Given the description of an element on the screen output the (x, y) to click on. 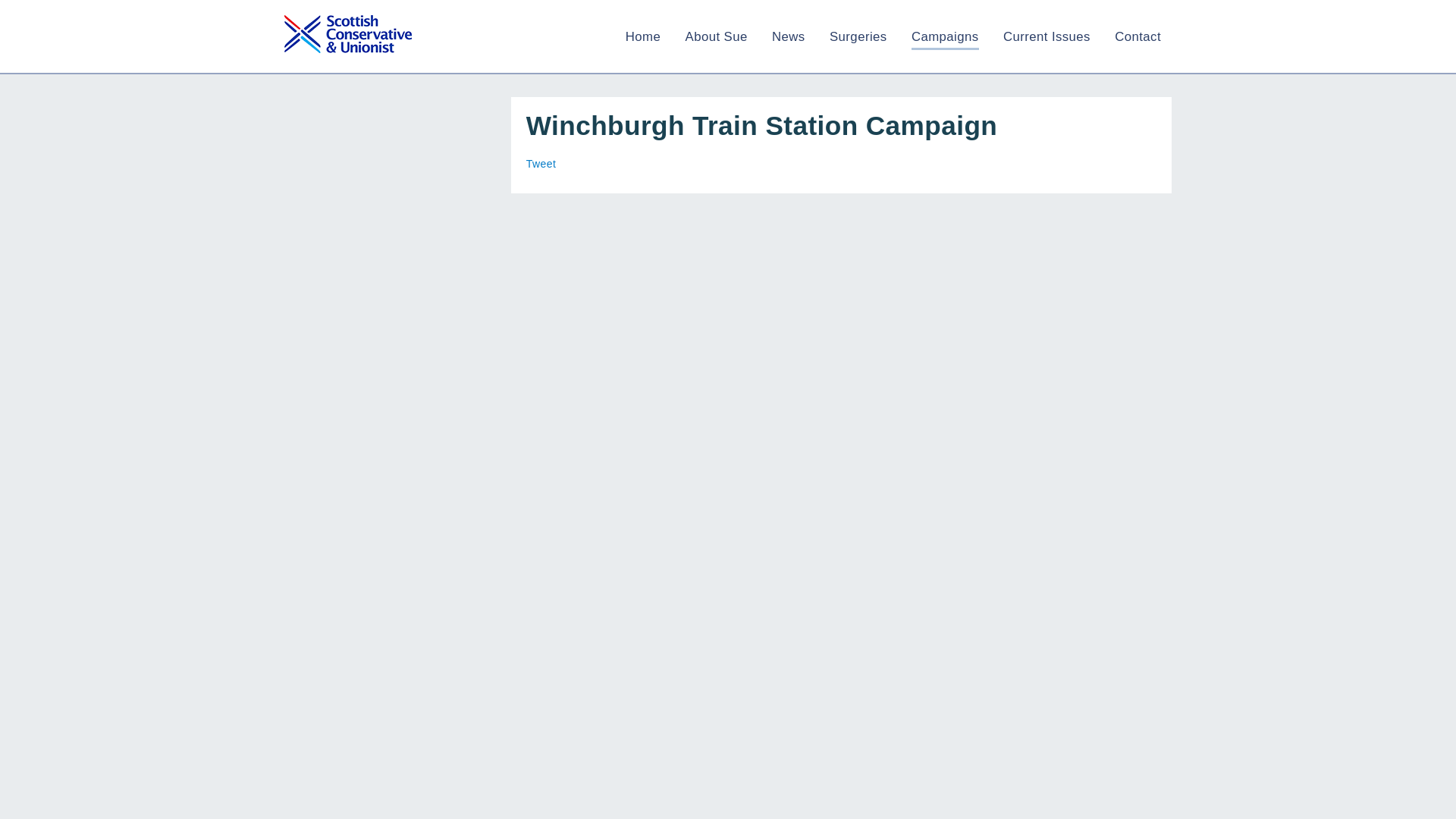
Current Issues (1046, 35)
Surgeries (857, 35)
Tweet (540, 163)
News (788, 35)
Contact (1137, 35)
Campaigns (944, 35)
Home (643, 35)
About Sue (716, 35)
